Given the description of an element on the screen output the (x, y) to click on. 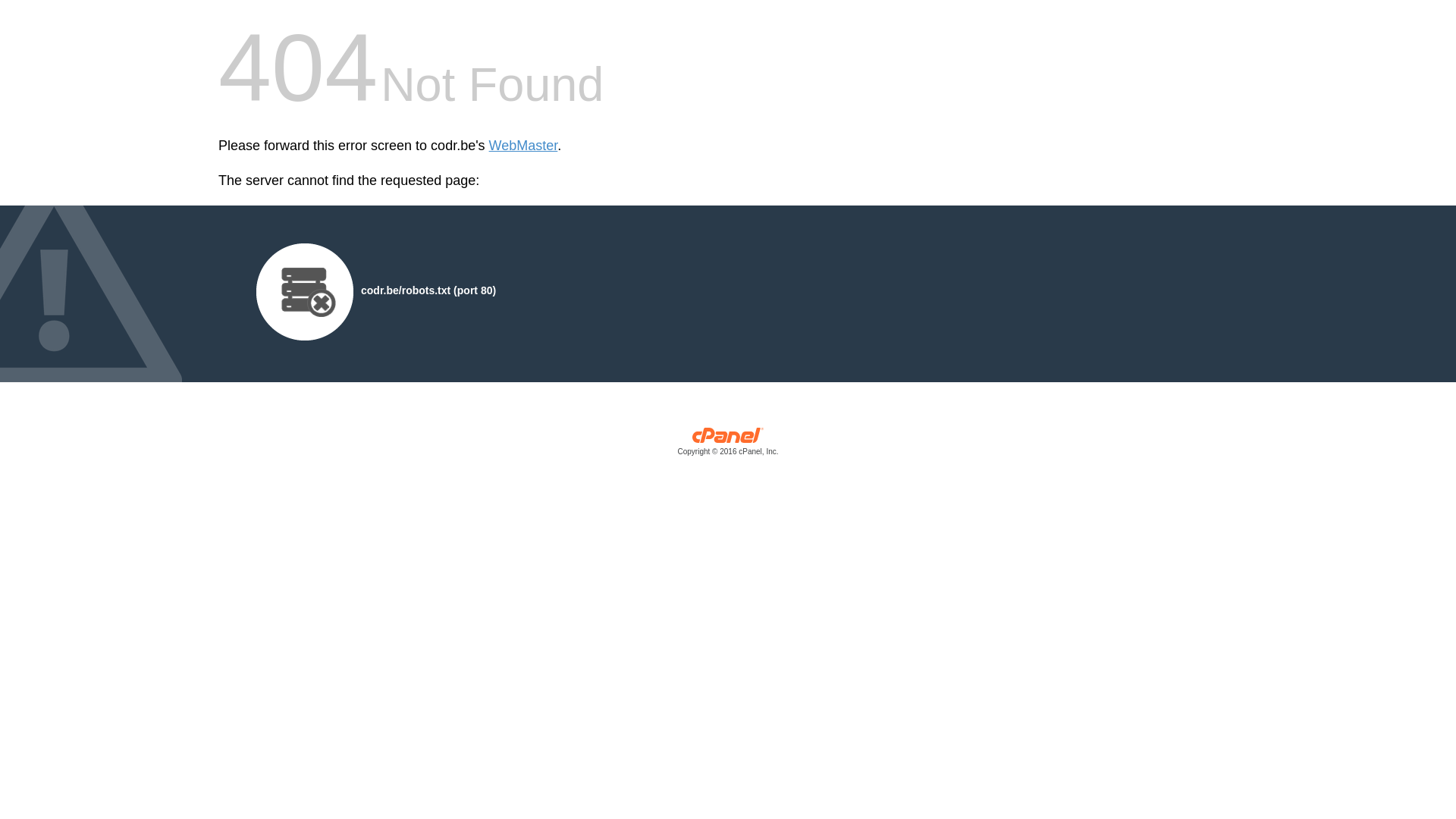
WebMaster Element type: text (523, 145)
